Given the description of an element on the screen output the (x, y) to click on. 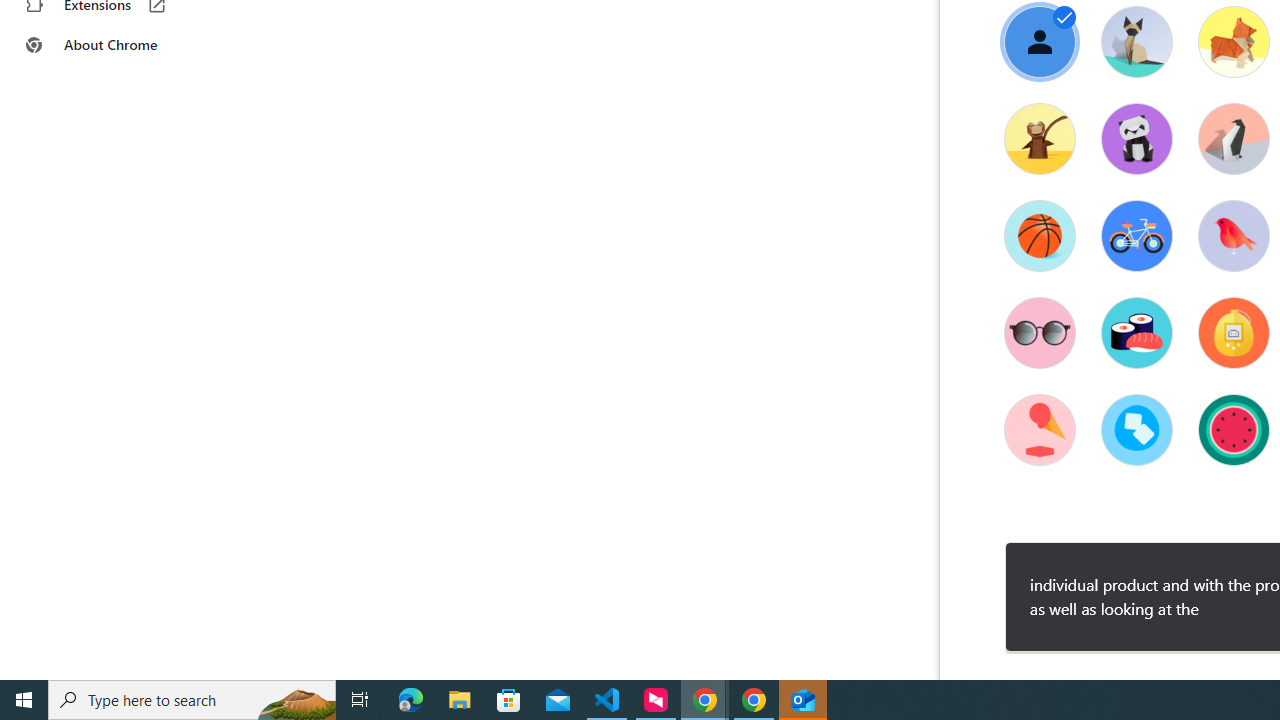
About Chrome (124, 44)
